Given the description of an element on the screen output the (x, y) to click on. 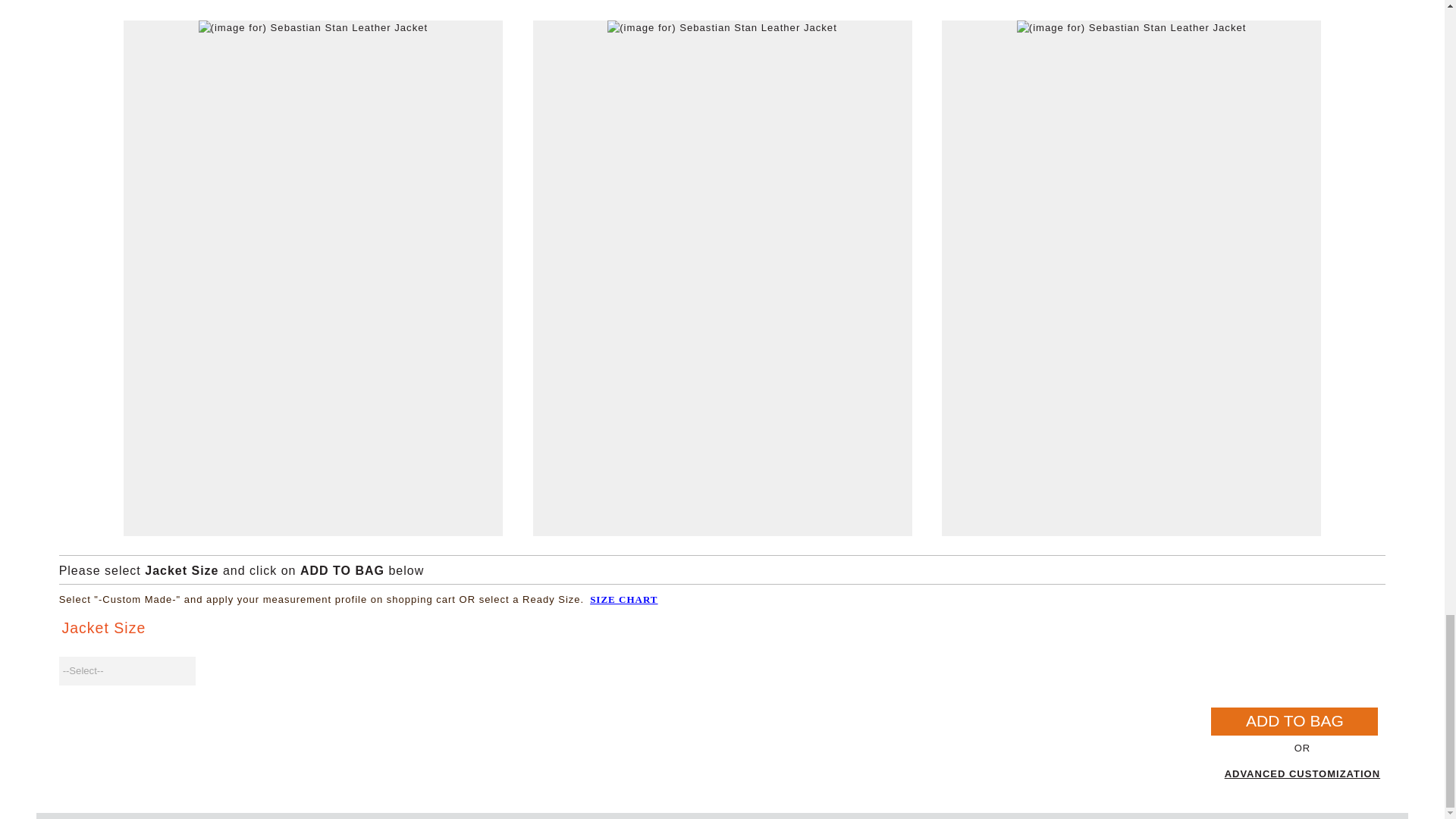
Add to Bag (1294, 721)
